Given the description of an element on the screen output the (x, y) to click on. 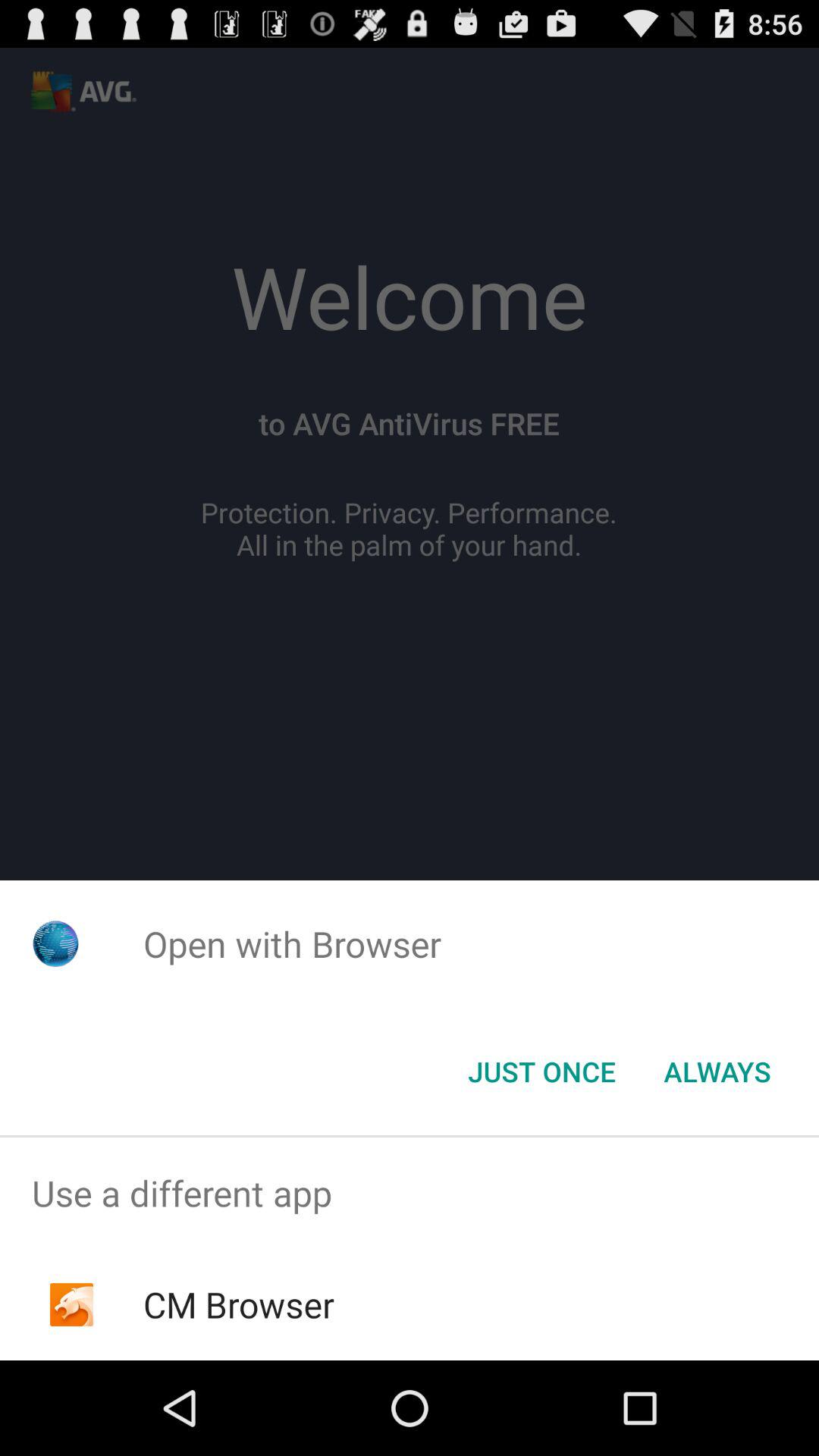
flip to the always button (717, 1071)
